Given the description of an element on the screen output the (x, y) to click on. 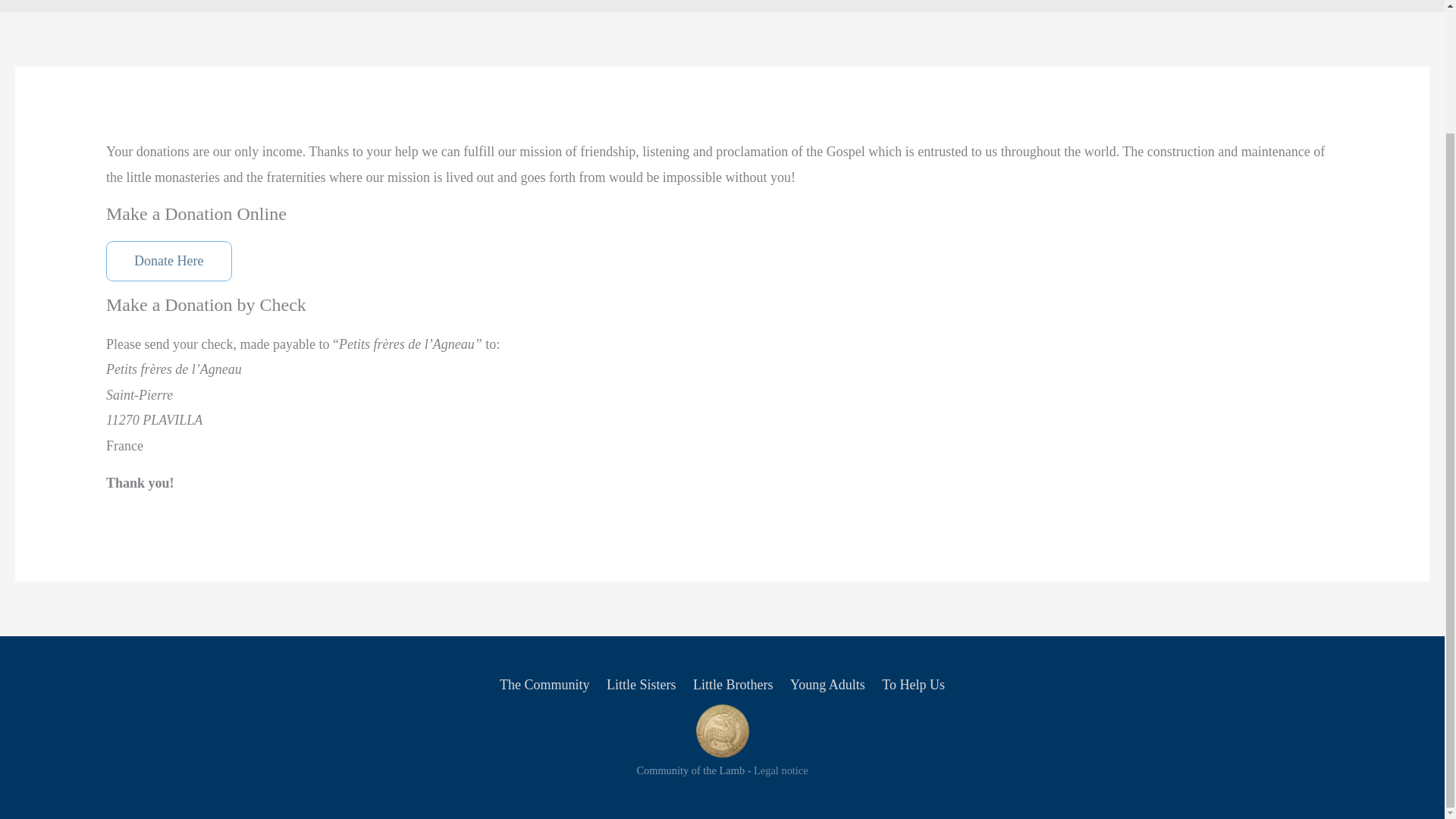
Donate Here (168, 260)
